Given the description of an element on the screen output the (x, y) to click on. 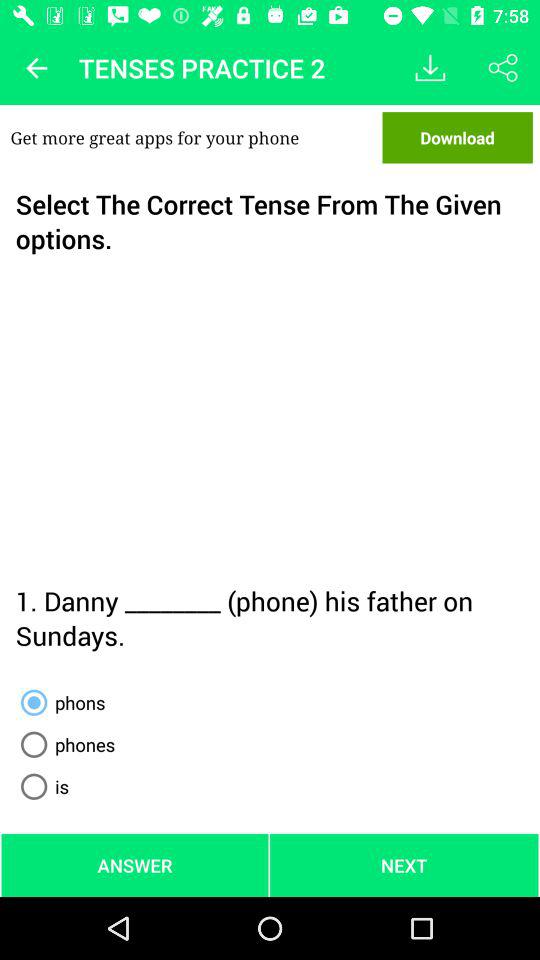
scroll until phones (64, 744)
